Given the description of an element on the screen output the (x, y) to click on. 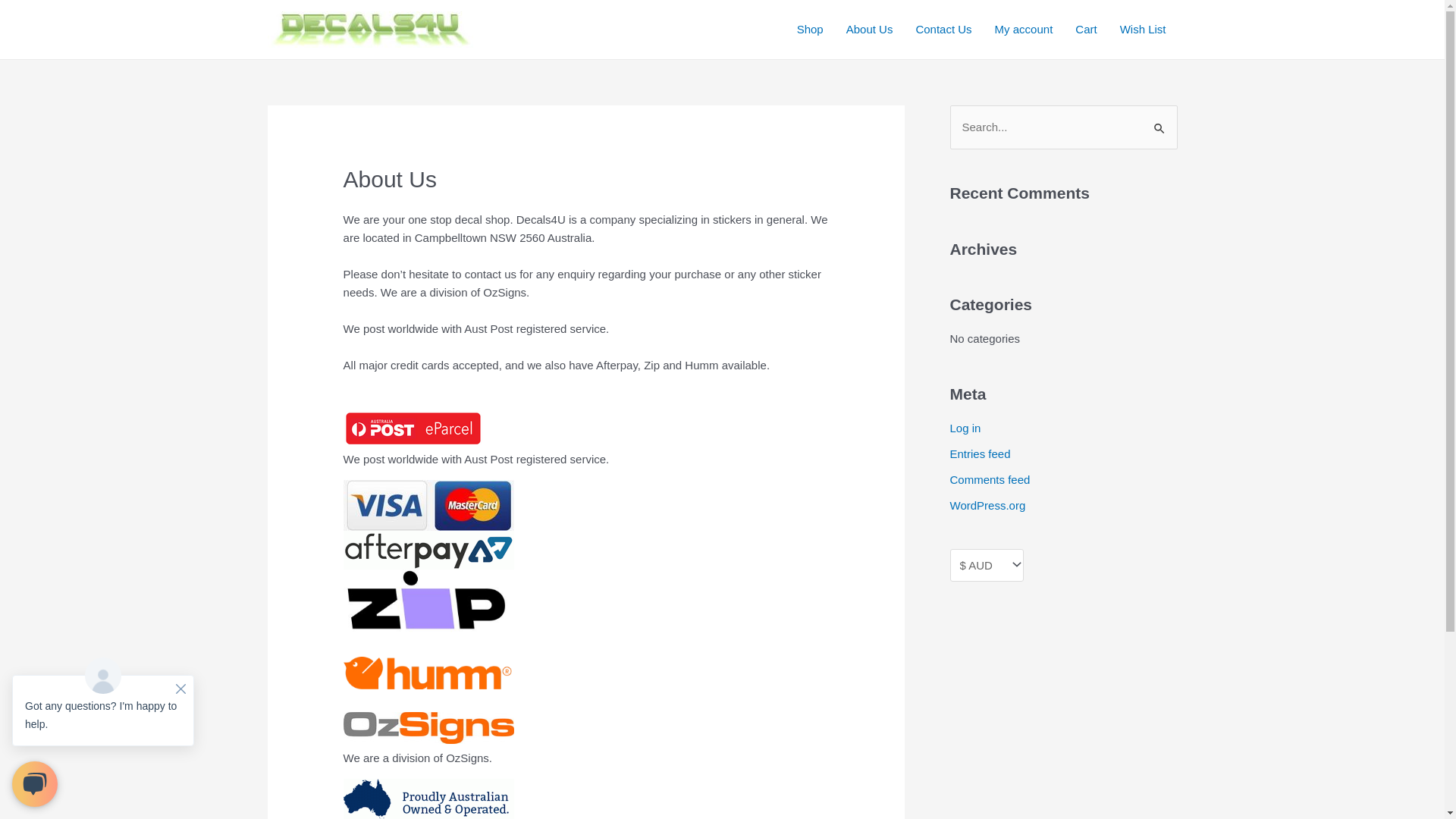
Comments feed Element type: text (989, 479)
About Us Element type: text (869, 29)
Wish List Element type: text (1142, 29)
Contact Us Element type: text (942, 29)
Entries feed Element type: text (979, 453)
Log in Element type: text (964, 427)
My account Element type: text (1023, 29)
Shop Element type: text (809, 29)
Cart Element type: text (1085, 29)
Search Element type: text (1160, 120)
WordPress.org Element type: text (987, 504)
